Given the description of an element on the screen output the (x, y) to click on. 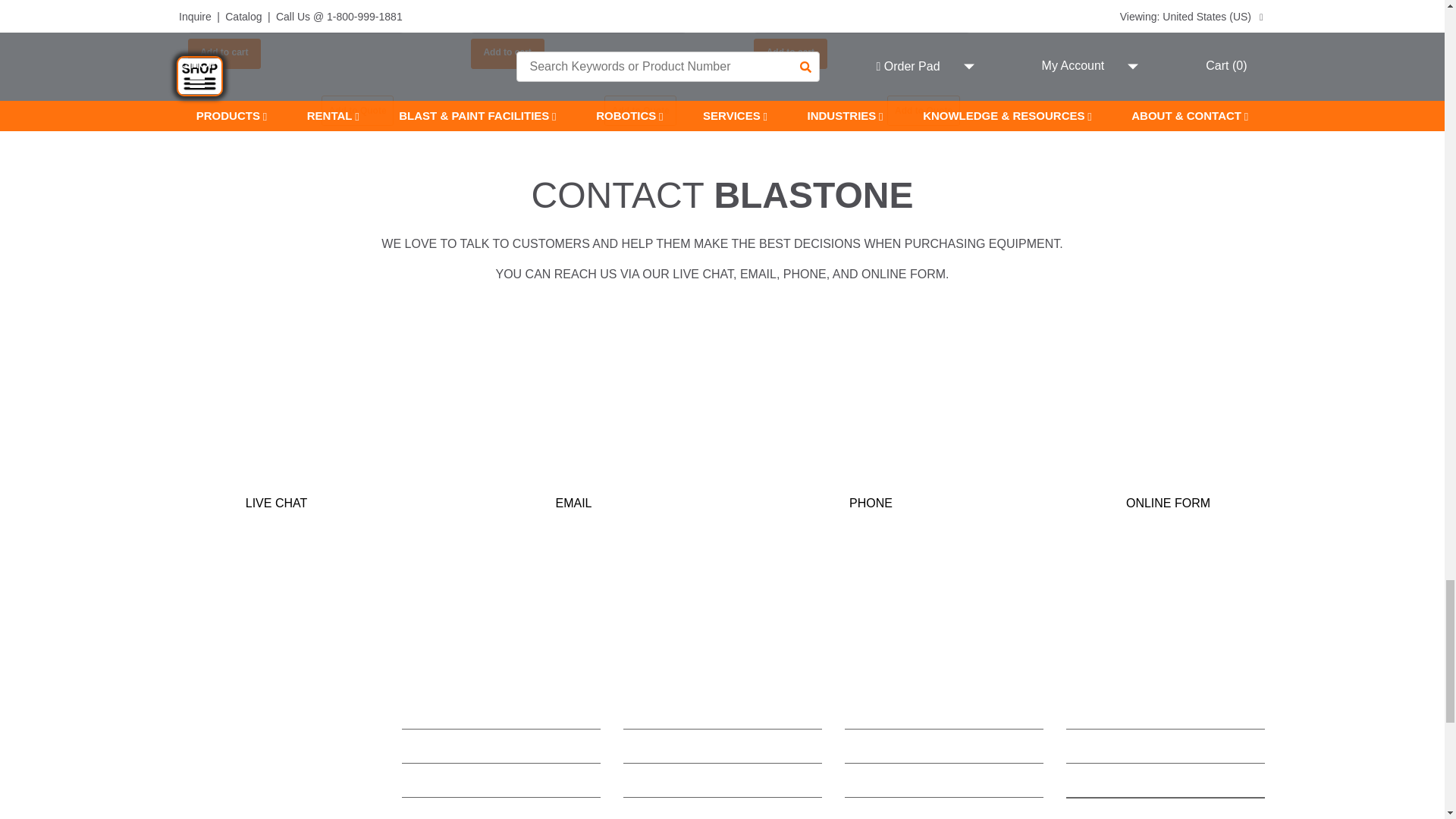
1 (578, 18)
1 (861, 18)
1 (295, 18)
Phone (870, 422)
Online form (1167, 422)
Email (572, 422)
Live chat (275, 422)
